Given the description of an element on the screen output the (x, y) to click on. 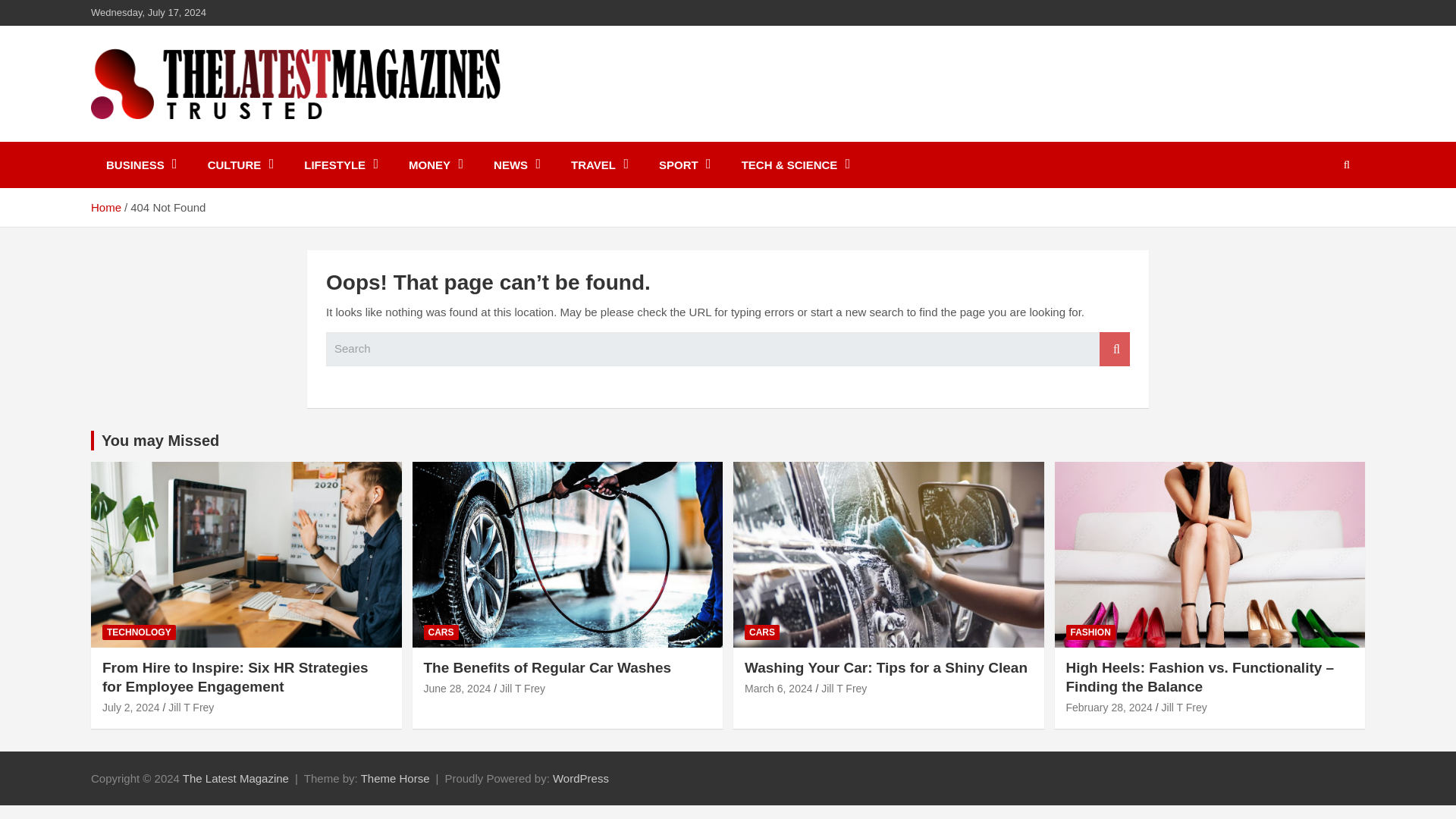
The Benefits of Regular Car Washes (456, 688)
CULTURE (240, 164)
LIFESTYLE (340, 164)
Washing Your Car: Tips for a Shiny Clean (778, 688)
BUSINESS (141, 164)
Theme Horse (395, 778)
WordPress (580, 778)
The Latest Magazine (238, 138)
MONEY (436, 164)
The Latest Magazine (235, 778)
